Given the description of an element on the screen output the (x, y) to click on. 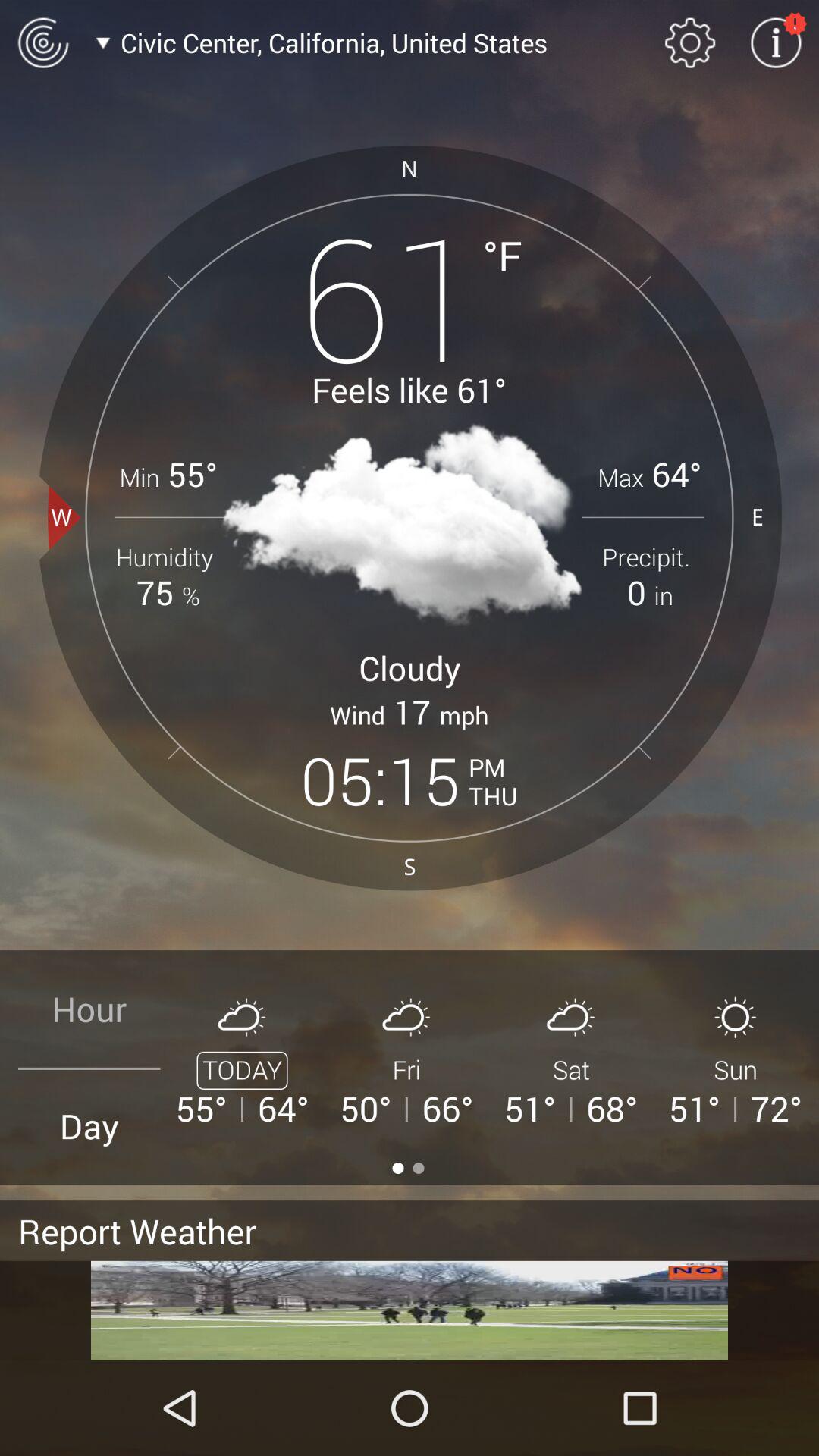
go to parameters (690, 42)
